Given the description of an element on the screen output the (x, y) to click on. 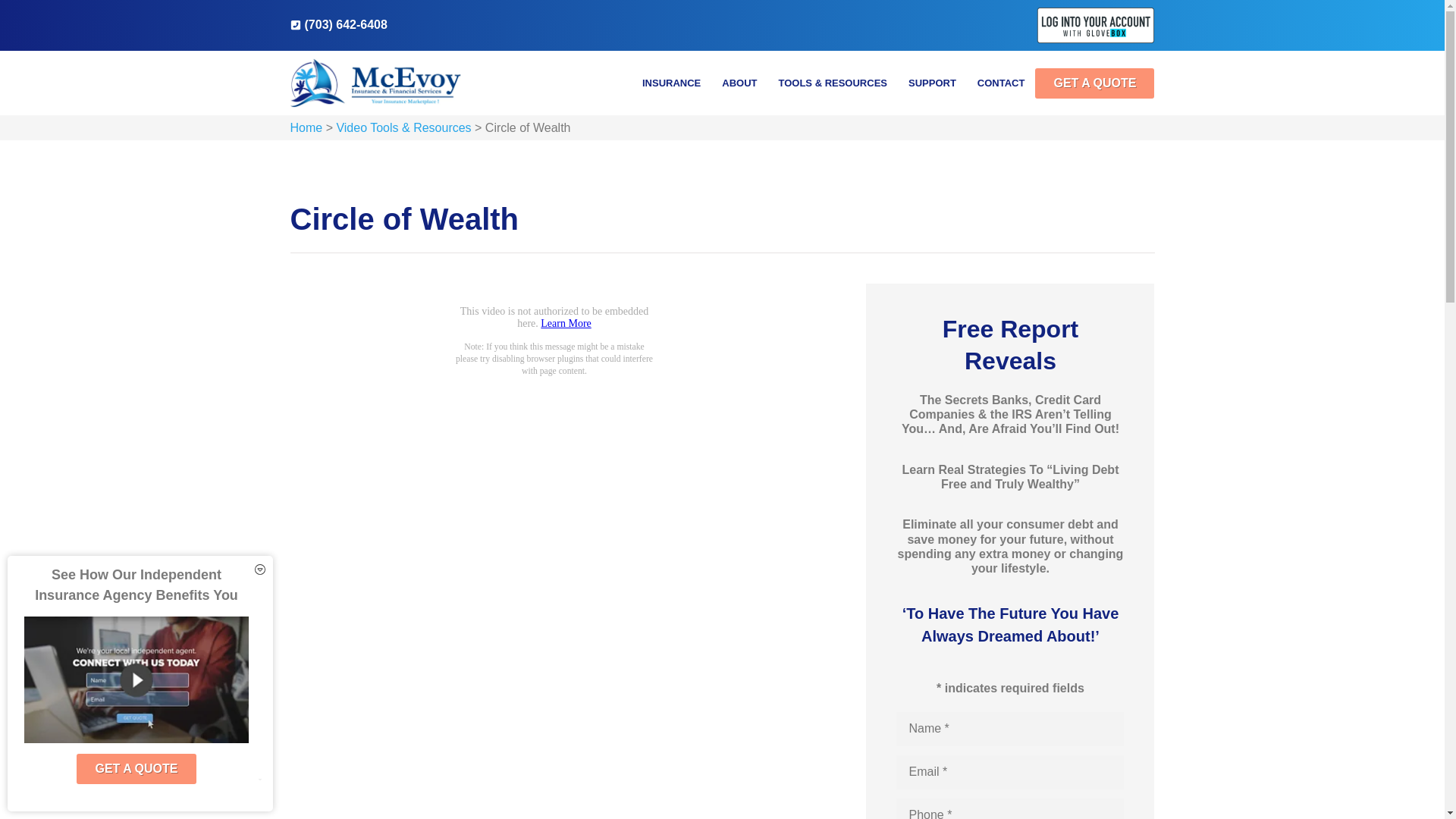
INSURANCE (671, 83)
ABOUT (739, 83)
